Given the description of an element on the screen output the (x, y) to click on. 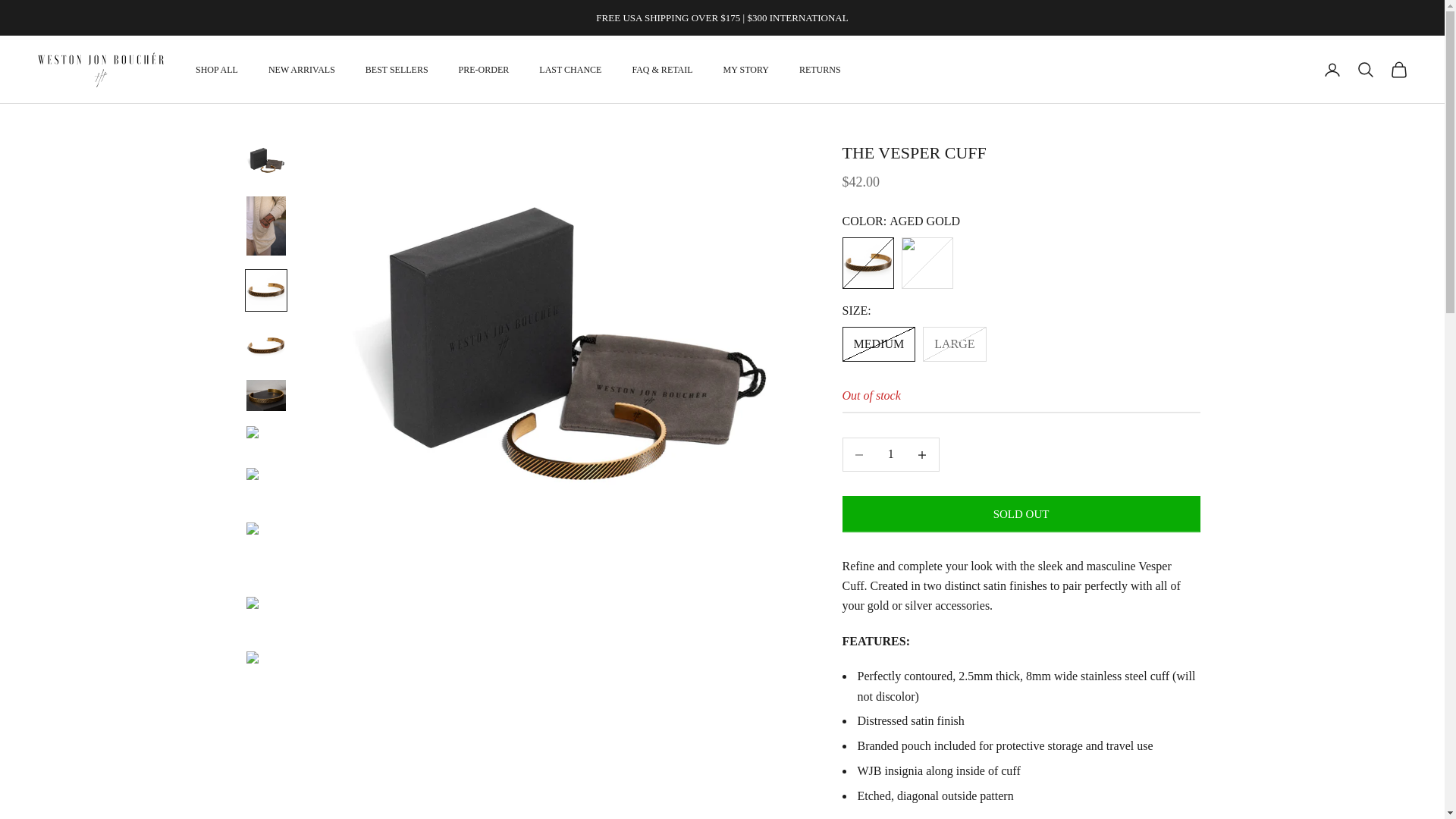
Open cart (1398, 69)
NEW ARRIVALS (300, 69)
PRE-ORDER (483, 69)
MY STORY (745, 69)
Open account page (1331, 69)
LAST CHANCE (569, 69)
Open search (1365, 69)
1 (890, 454)
